Given the description of an element on the screen output the (x, y) to click on. 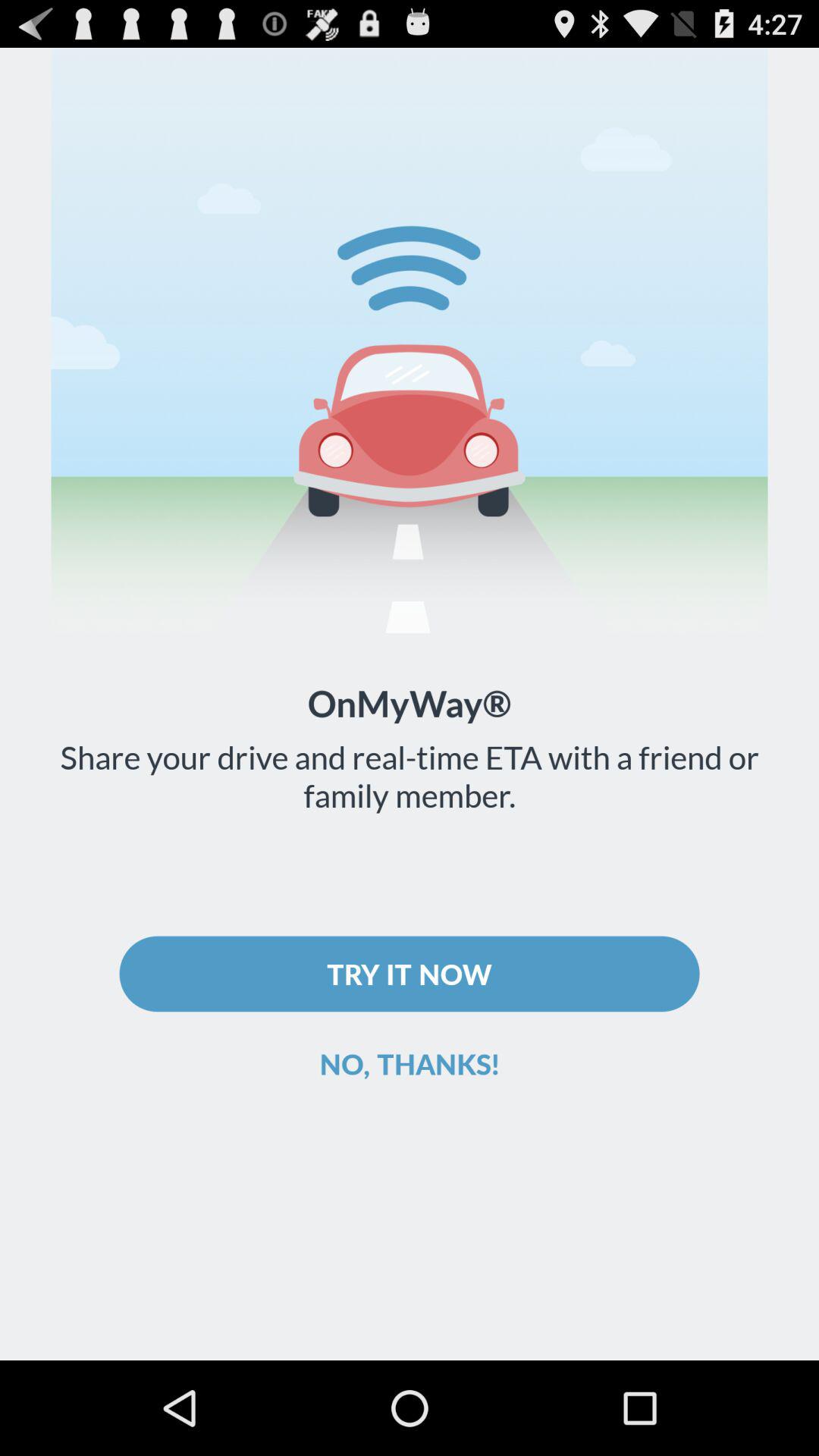
launch item below the share your drive icon (409, 973)
